Given the description of an element on the screen output the (x, y) to click on. 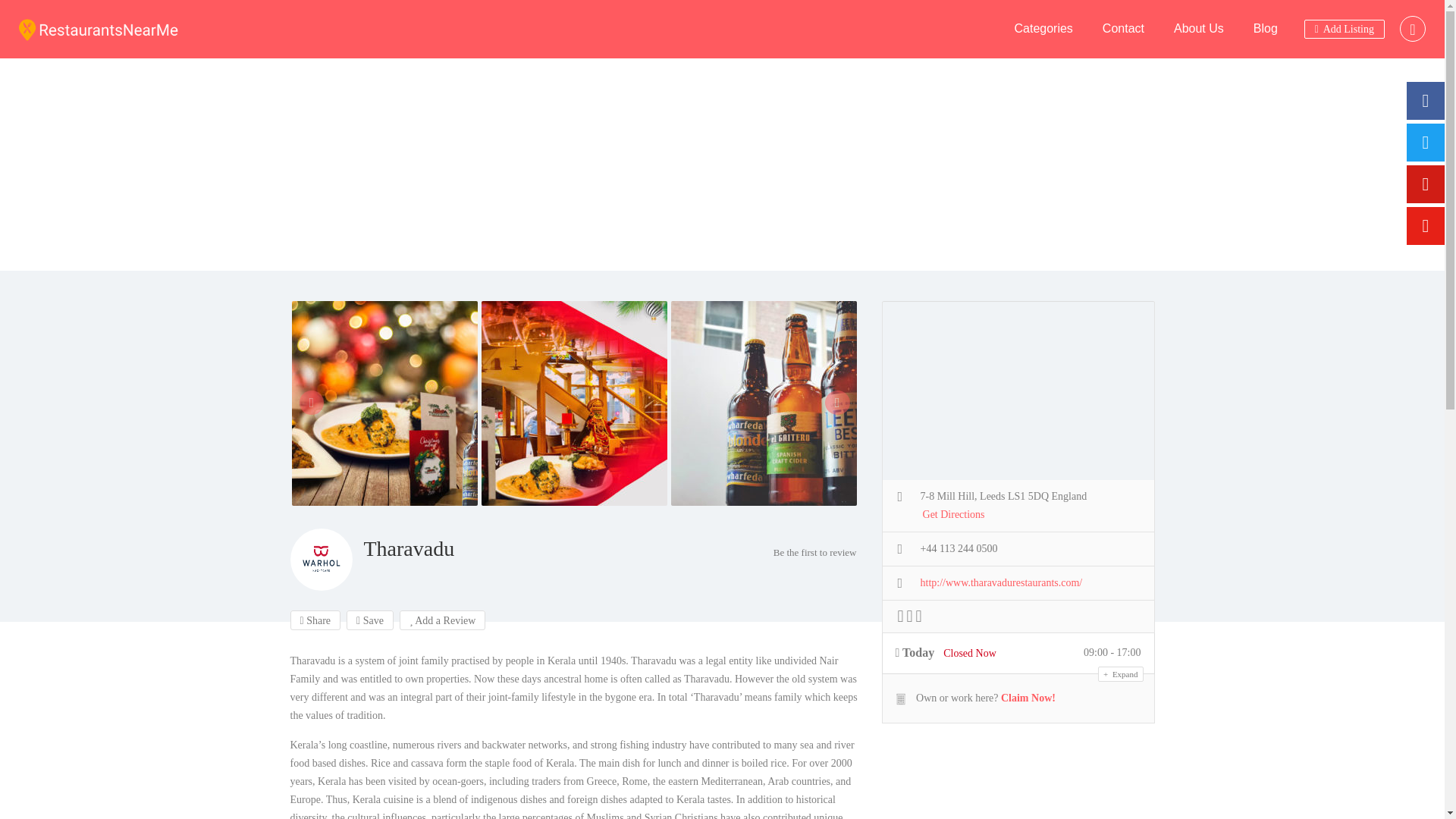
Add a Review (442, 619)
Submit (413, 502)
Share (314, 619)
About Us (1198, 28)
Categories (1042, 28)
Blog (1265, 28)
Add Listing (1344, 28)
Save (369, 619)
Get Directions (954, 515)
Contact (1123, 28)
